Given the description of an element on the screen output the (x, y) to click on. 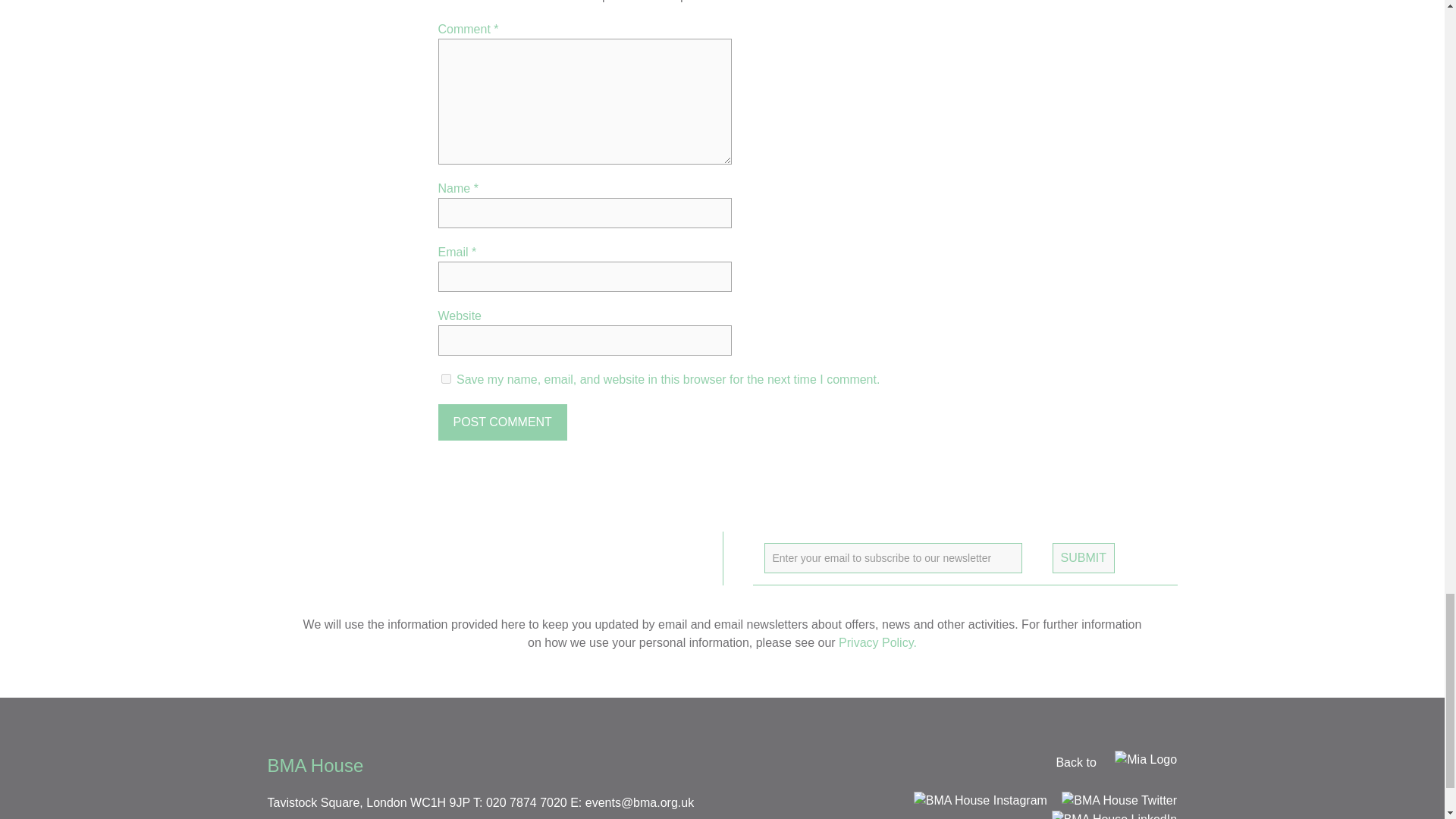
SUBMIT (1083, 557)
yes (446, 378)
Post Comment (502, 422)
